Given the description of an element on the screen output the (x, y) to click on. 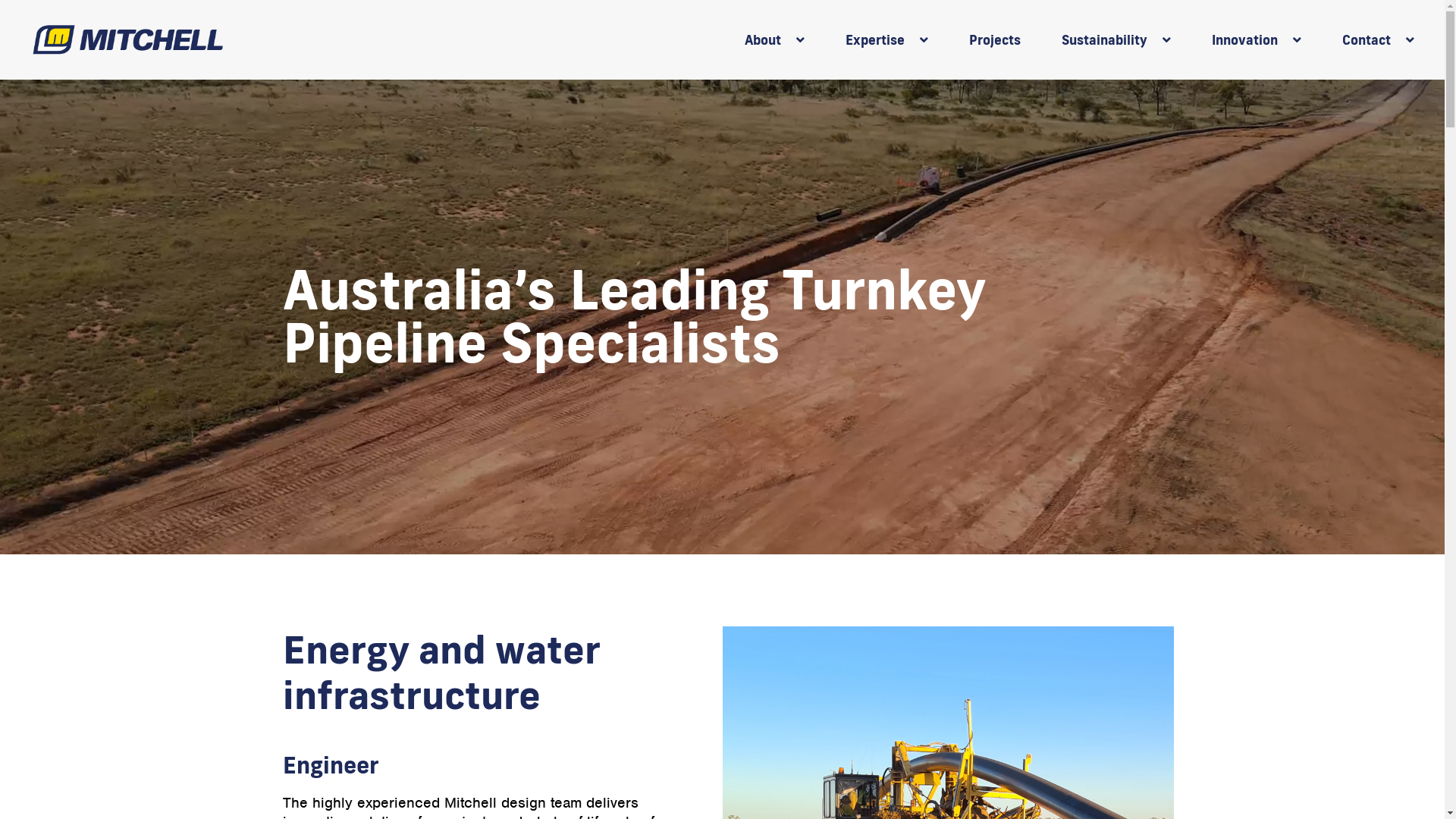
Contact Element type: text (1366, 39)
Projects Element type: text (983, 39)
Expertise Element type: text (875, 39)
Sustainability Element type: text (1104, 39)
Innovation Element type: text (1245, 39)
About Element type: text (762, 39)
